Given the description of an element on the screen output the (x, y) to click on. 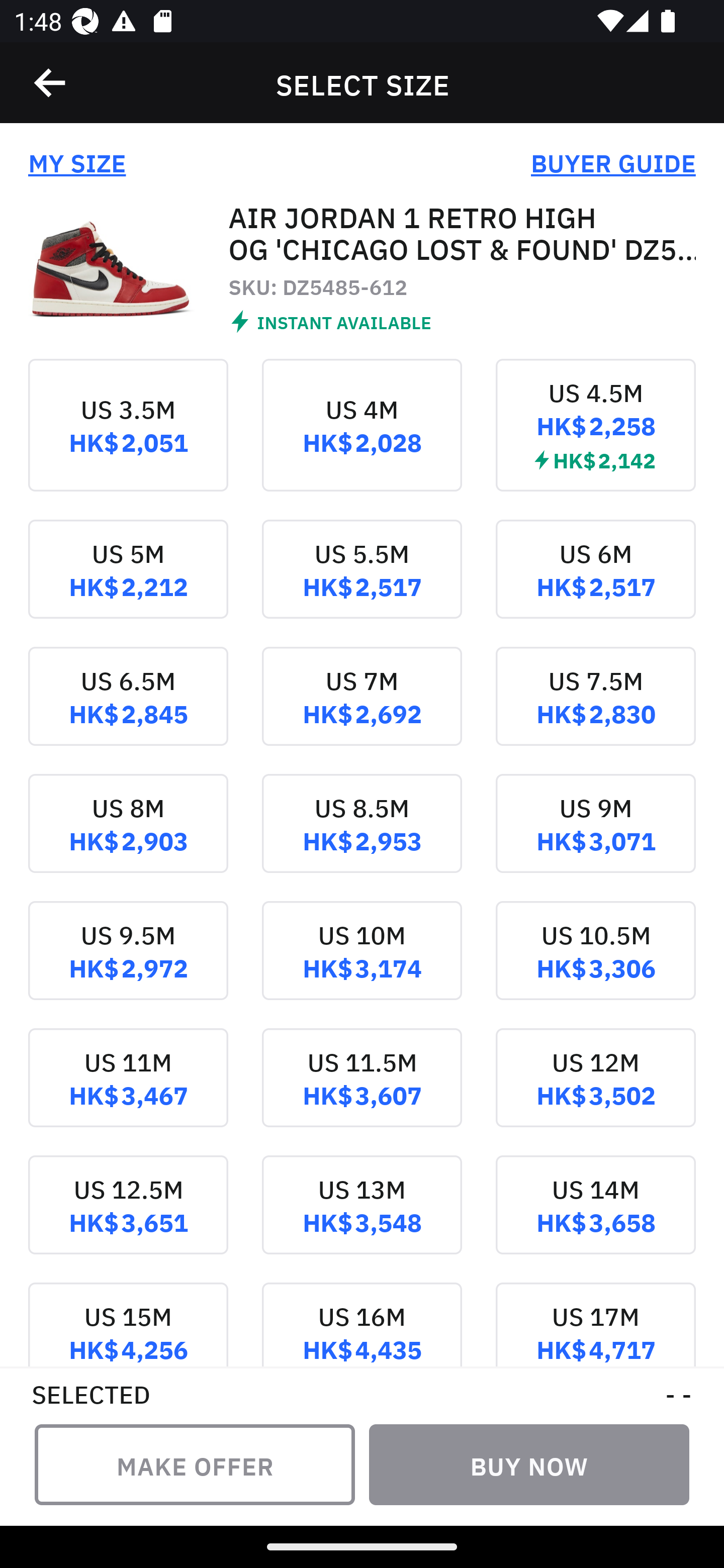
 (50, 83)
US 3.5M HK$ 2,051 (128, 439)
US 4M HK$ 2,028 (361, 439)
US 4.5M HK$ 2,258  HK$ 2,142 (595, 439)
US 5M HK$ 2,212 (128, 582)
US 5.5M HK$ 2,517 (361, 582)
US 6M HK$ 2,517 (595, 582)
US 6.5M HK$ 2,845 (128, 710)
US 7M HK$ 2,692 (361, 710)
US 7.5M HK$ 2,830 (595, 710)
US 8M HK$ 2,903 (128, 837)
US 8.5M HK$ 2,953 (361, 837)
US 9M HK$ 3,071 (595, 837)
US 9.5M HK$ 2,972 (128, 964)
US 10M HK$ 3,174 (361, 964)
US 10.5M HK$ 3,306 (595, 964)
US 11M HK$ 3,467 (128, 1091)
US 11.5M HK$ 3,607 (361, 1091)
US 12M HK$ 3,502 (595, 1091)
US 12.5M HK$ 3,651 (128, 1218)
US 13M HK$ 3,548 (361, 1218)
US 14M HK$ 3,658 (595, 1218)
US 15M HK$ 4,256 (128, 1323)
US 16M HK$ 4,435 (361, 1323)
US 17M HK$ 4,717 (595, 1323)
MAKE OFFER (194, 1464)
BUY NOW (529, 1464)
